Given the description of an element on the screen output the (x, y) to click on. 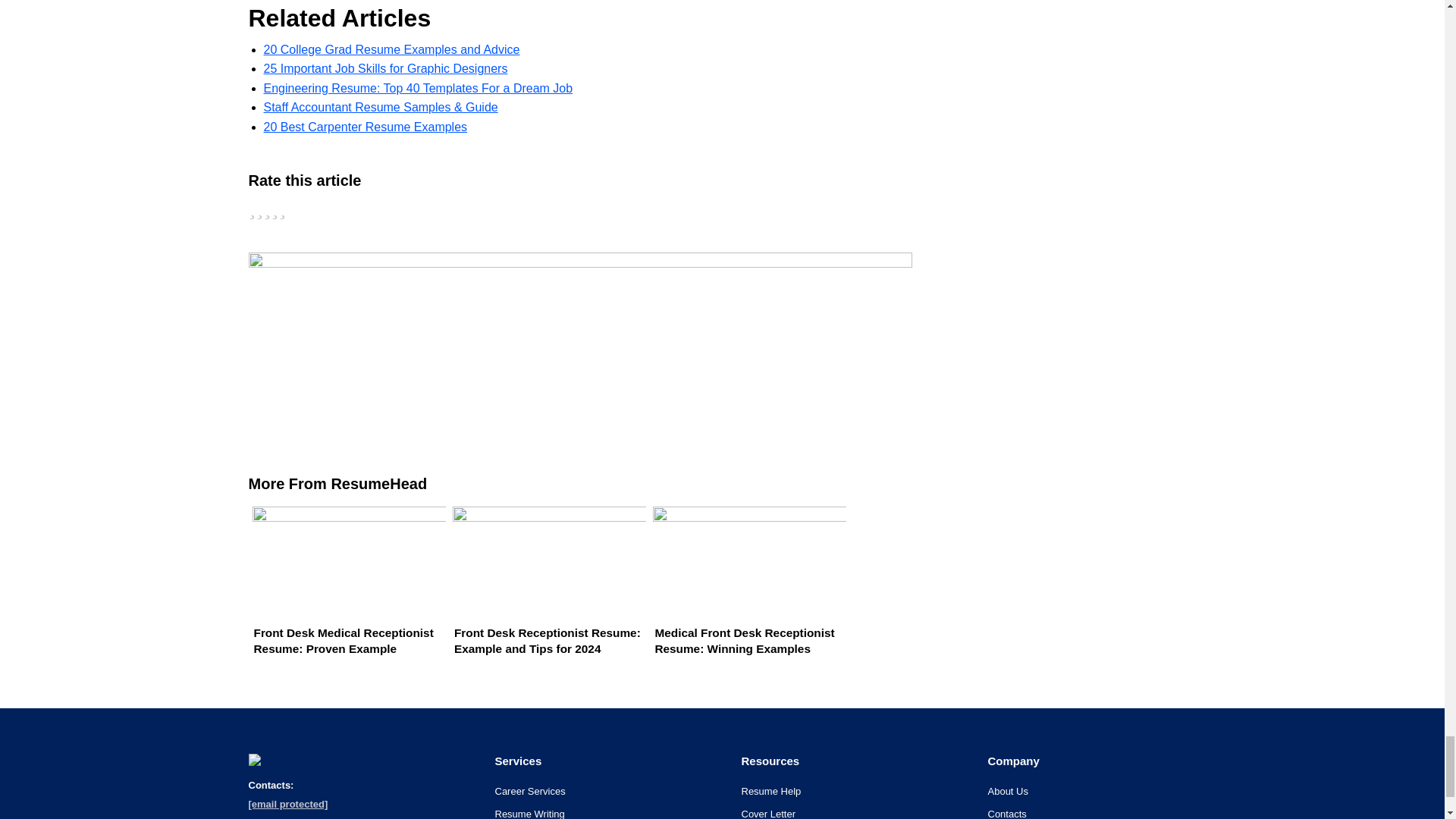
25 Important Job Skills for Graphic Designers (385, 68)
Engineering Resume: Top 40 Templates For a Dream Job (418, 88)
Front Desk Medical Receptionist Resume: Proven Example (345, 597)
Medical Front Desk Receptionist Resume: Winning Examples (746, 597)
Front Desk Medical Receptionist Resume: Proven Example (345, 597)
20 College Grad Resume Examples and Advice (391, 48)
Career Services (529, 790)
Front Desk Receptionist Resume: Example and Tips for 2024 (545, 597)
Medical Front Desk Receptionist Resume: Winning Examples (746, 597)
20 Best Carpenter Resume Examples (365, 126)
Front Desk Receptionist Resume: Example and Tips for 2024 (545, 597)
